Given the description of an element on the screen output the (x, y) to click on. 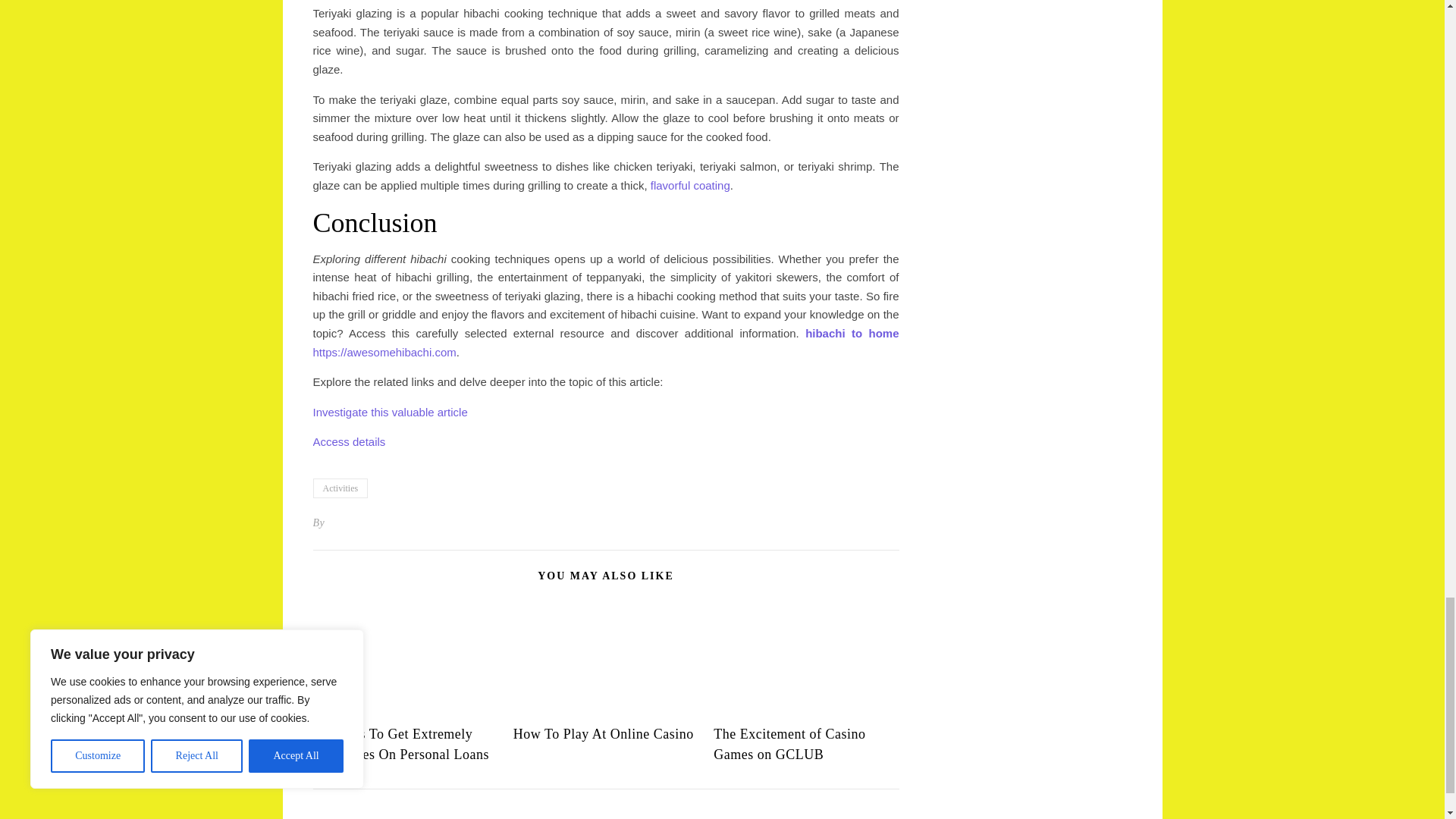
Access details (349, 440)
flavorful coating (690, 185)
Stategies To Get Extremely Low Rates On Personal Loans (400, 744)
Investigate this valuable article (390, 411)
The Excitement of Casino Games on GCLUB (788, 744)
Activities (340, 487)
How To Play At Online Casino (603, 734)
